Given the description of an element on the screen output the (x, y) to click on. 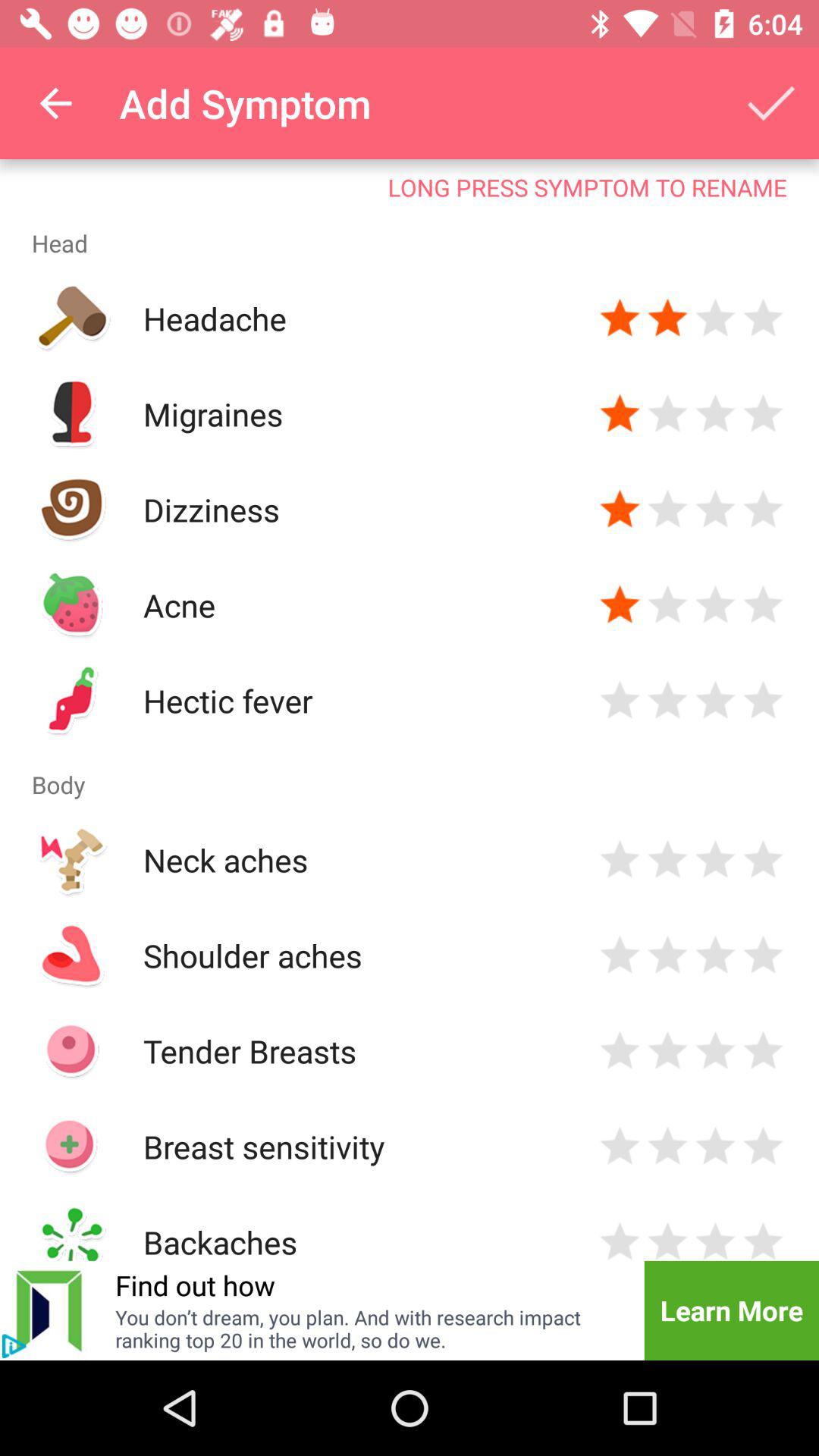
indicate intensity of symptom (667, 1146)
